Given the description of an element on the screen output the (x, y) to click on. 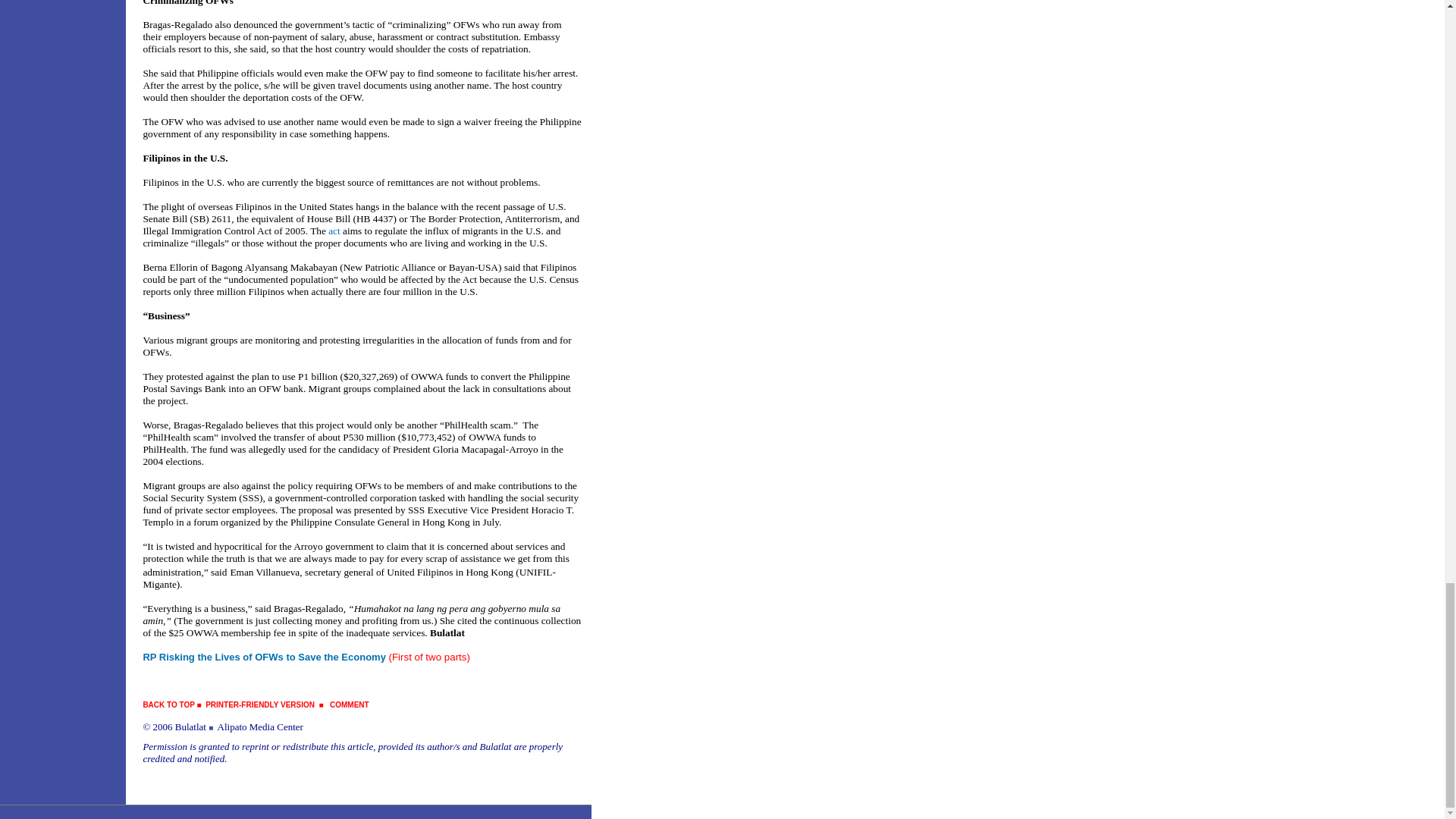
BACK TO TOP (167, 705)
COMMENT (349, 705)
act (334, 230)
PRINTER-FRIENDLY VERSION (259, 705)
